Given the description of an element on the screen output the (x, y) to click on. 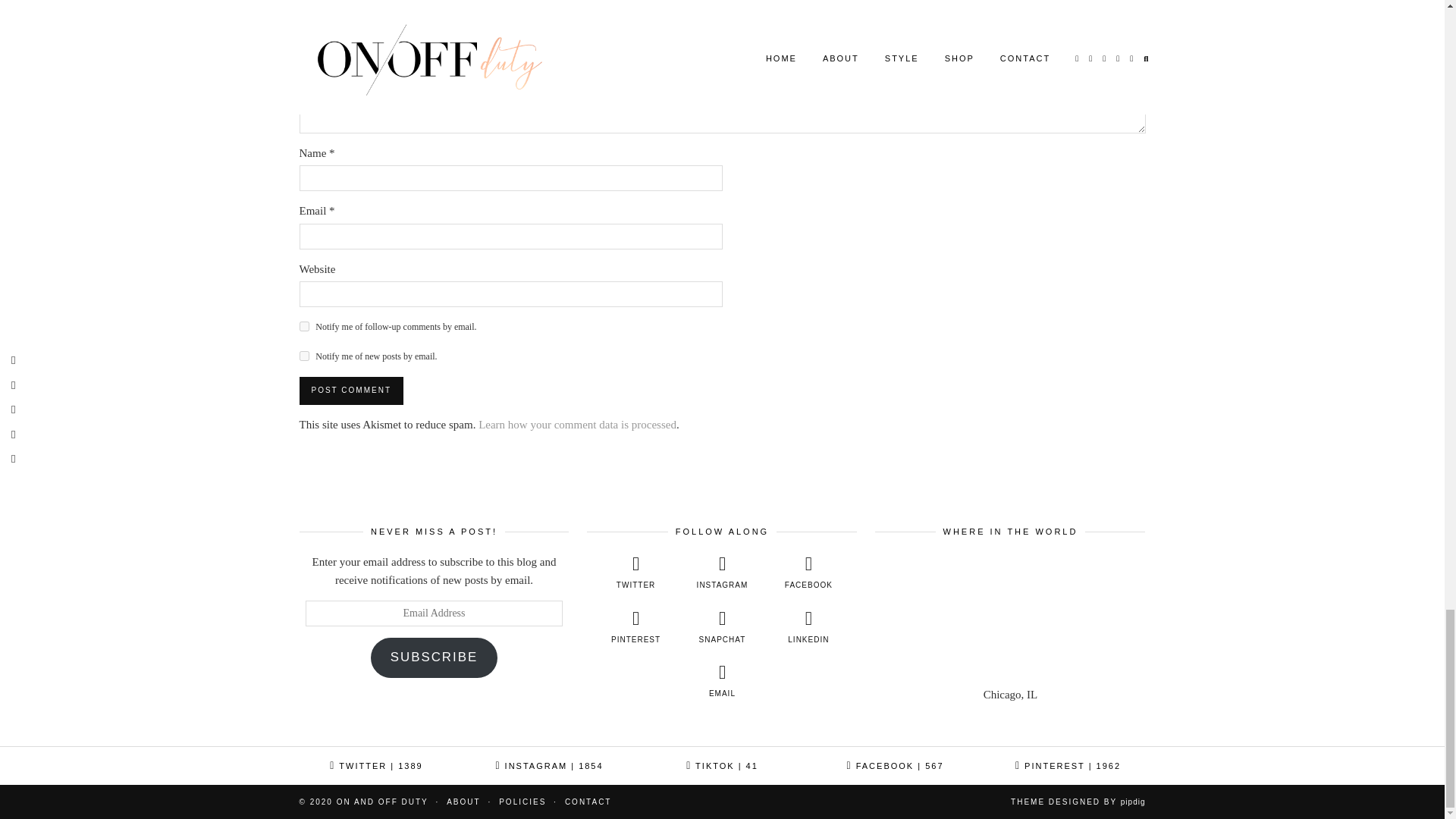
subscribe (303, 356)
Post Comment (350, 390)
subscribe (303, 326)
